Given the description of an element on the screen output the (x, y) to click on. 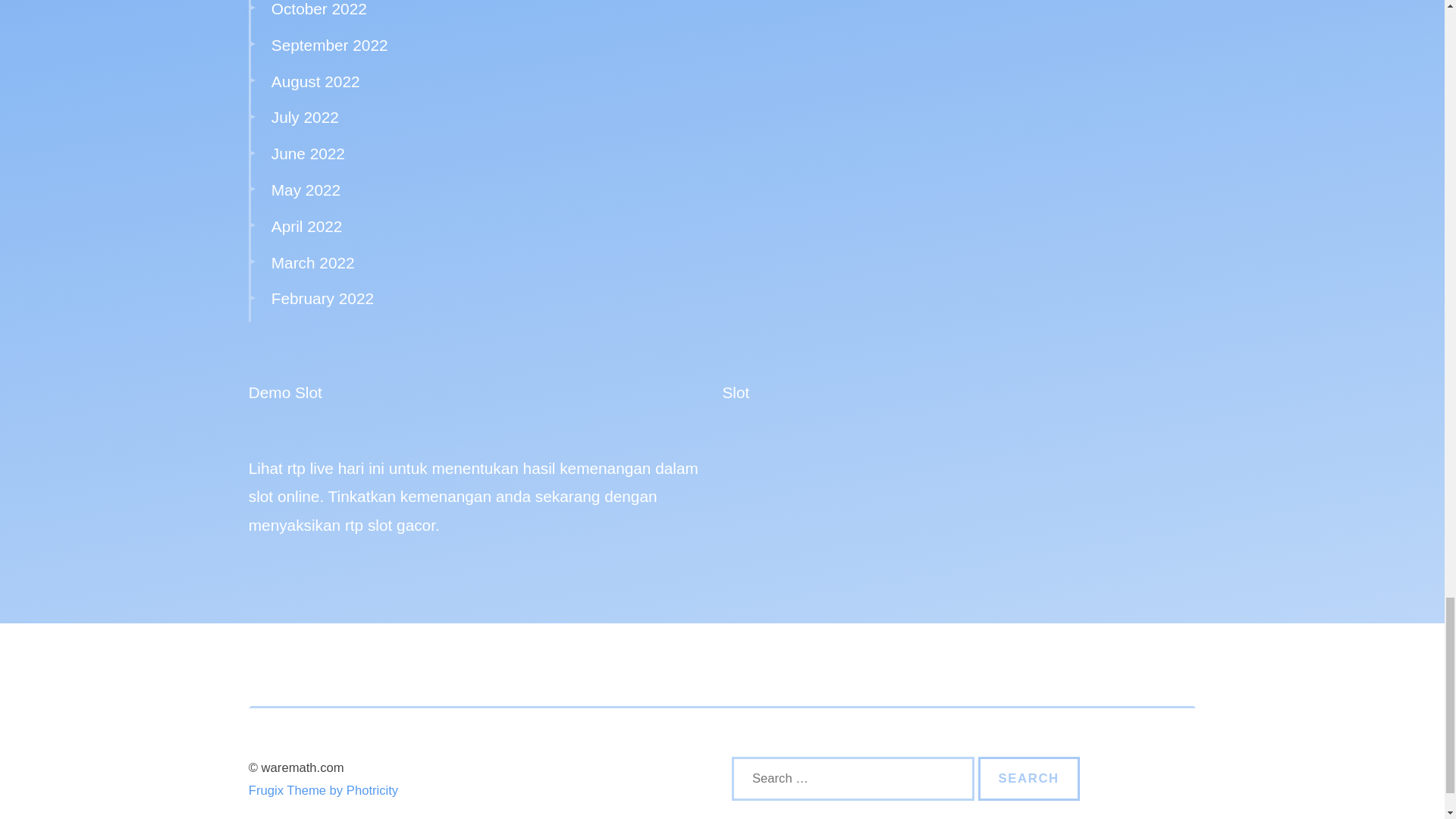
October 2022 (318, 8)
Search (1029, 778)
July 2022 (304, 117)
June 2022 (307, 153)
August 2022 (314, 81)
September 2022 (329, 45)
Search (1029, 778)
